Given the description of an element on the screen output the (x, y) to click on. 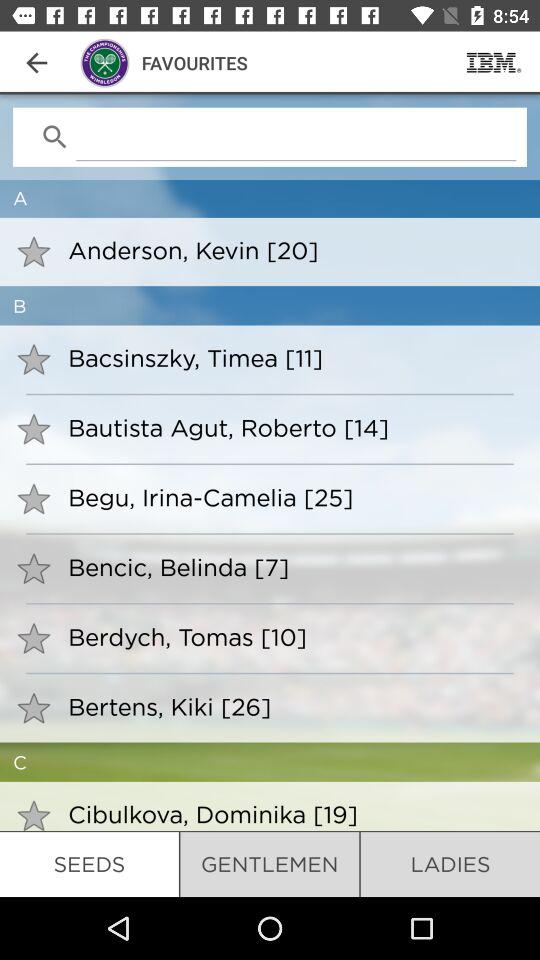
select the icon above the seeds (290, 814)
